Given the description of an element on the screen output the (x, y) to click on. 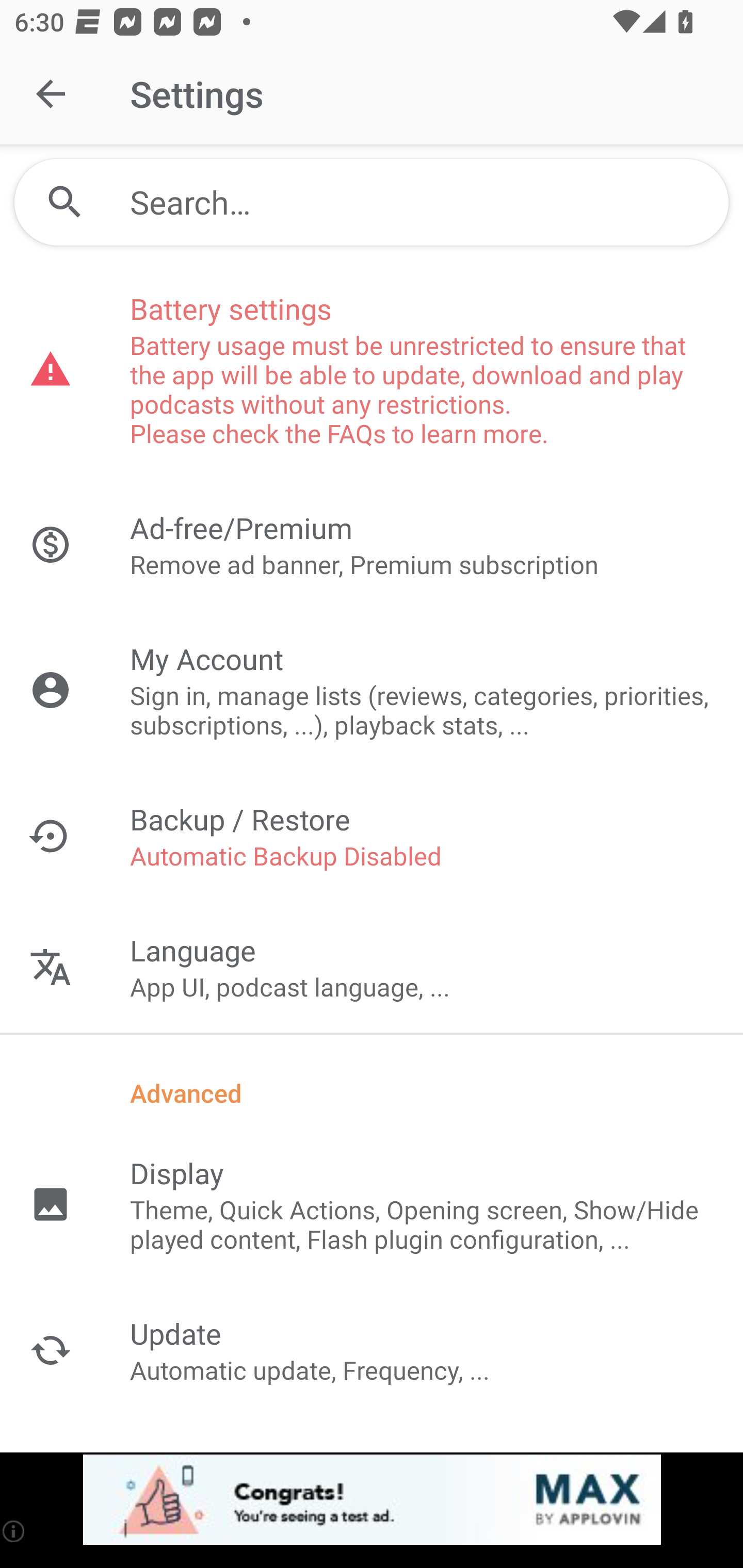
Navigate up (50, 93)
Search… (371, 202)
Search… (422, 202)
Backup / Restore Automatic Backup Disabled (371, 835)
Language App UI, podcast language, ... (371, 967)
Update Automatic update, Frequency, ... (371, 1349)
app-monetization (371, 1500)
(i) (14, 1531)
